Given the description of an element on the screen output the (x, y) to click on. 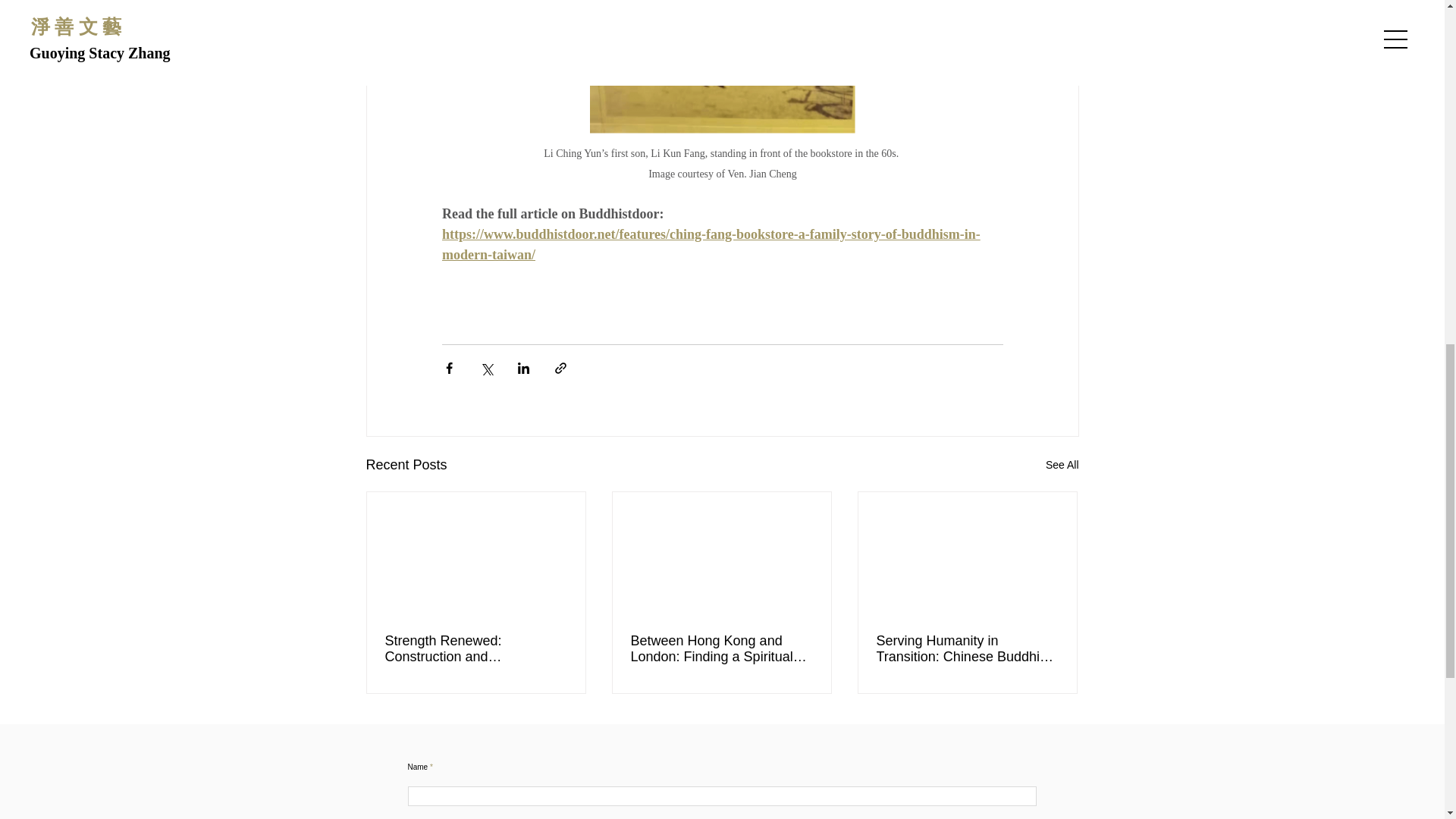
See All (1061, 464)
